Given the description of an element on the screen output the (x, y) to click on. 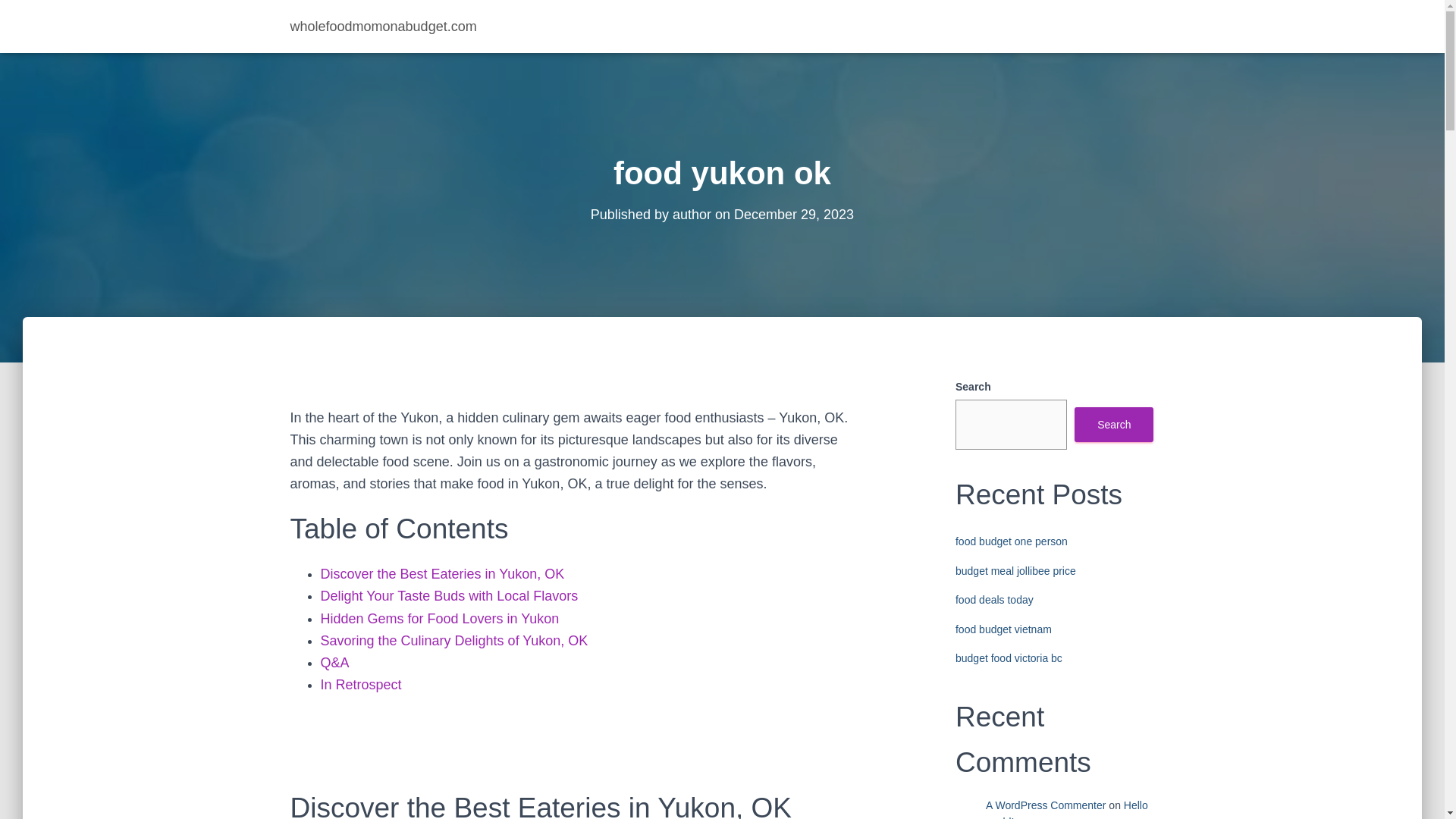
Hello world! (1066, 809)
food deals today (994, 599)
budget meal jollibee price (1015, 571)
Savoring the Culinary Delights of Yukon, OK (454, 640)
wholefoodmomonabudget.com (383, 26)
wholefoodmomonabudget.com (383, 26)
Discover the Best Eateries in Yukon, OK (442, 573)
food budget vietnam (1003, 629)
A WordPress Commenter (1045, 805)
author (691, 214)
